Given the description of an element on the screen output the (x, y) to click on. 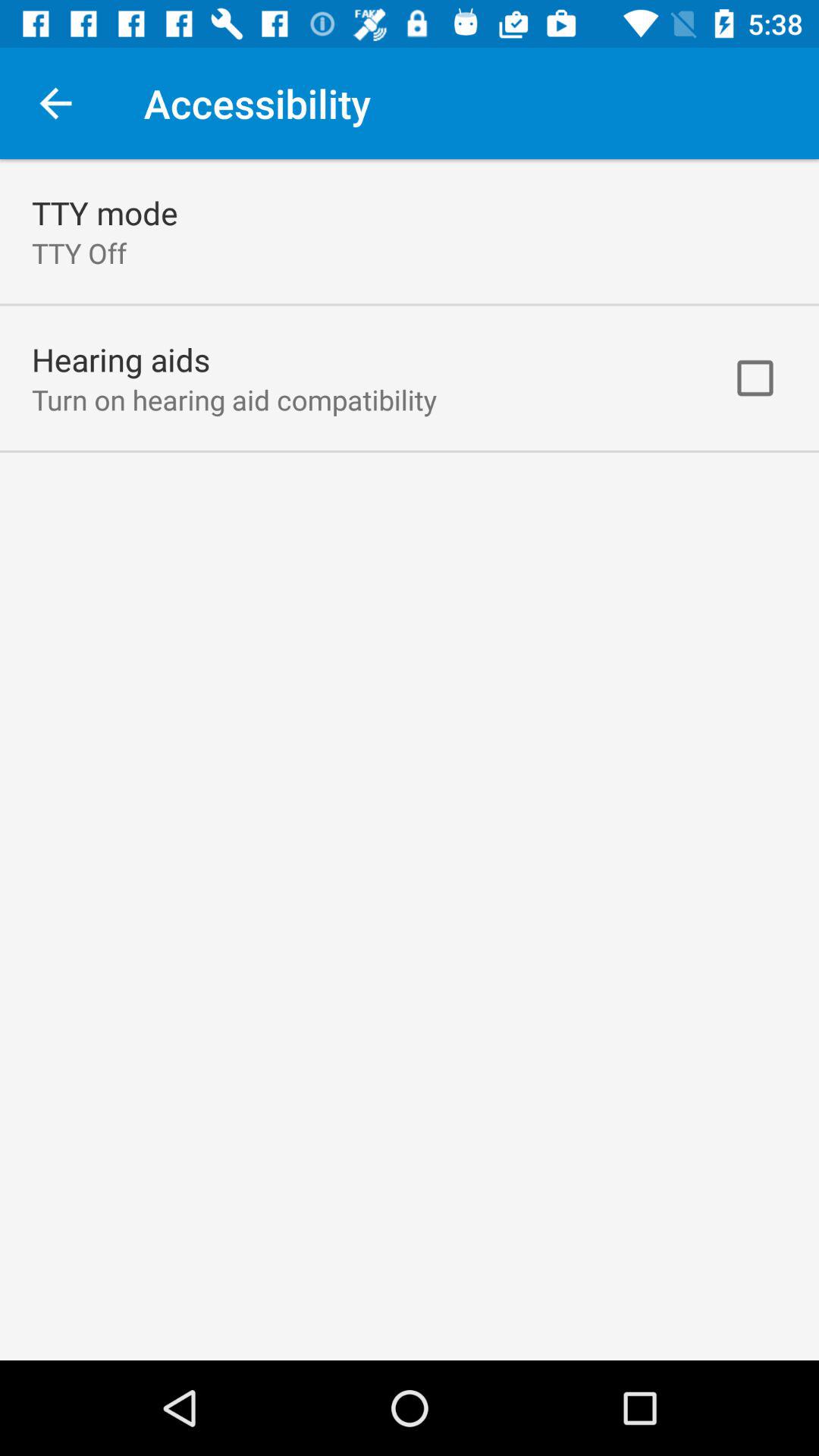
scroll to the hearing aids app (120, 359)
